Given the description of an element on the screen output the (x, y) to click on. 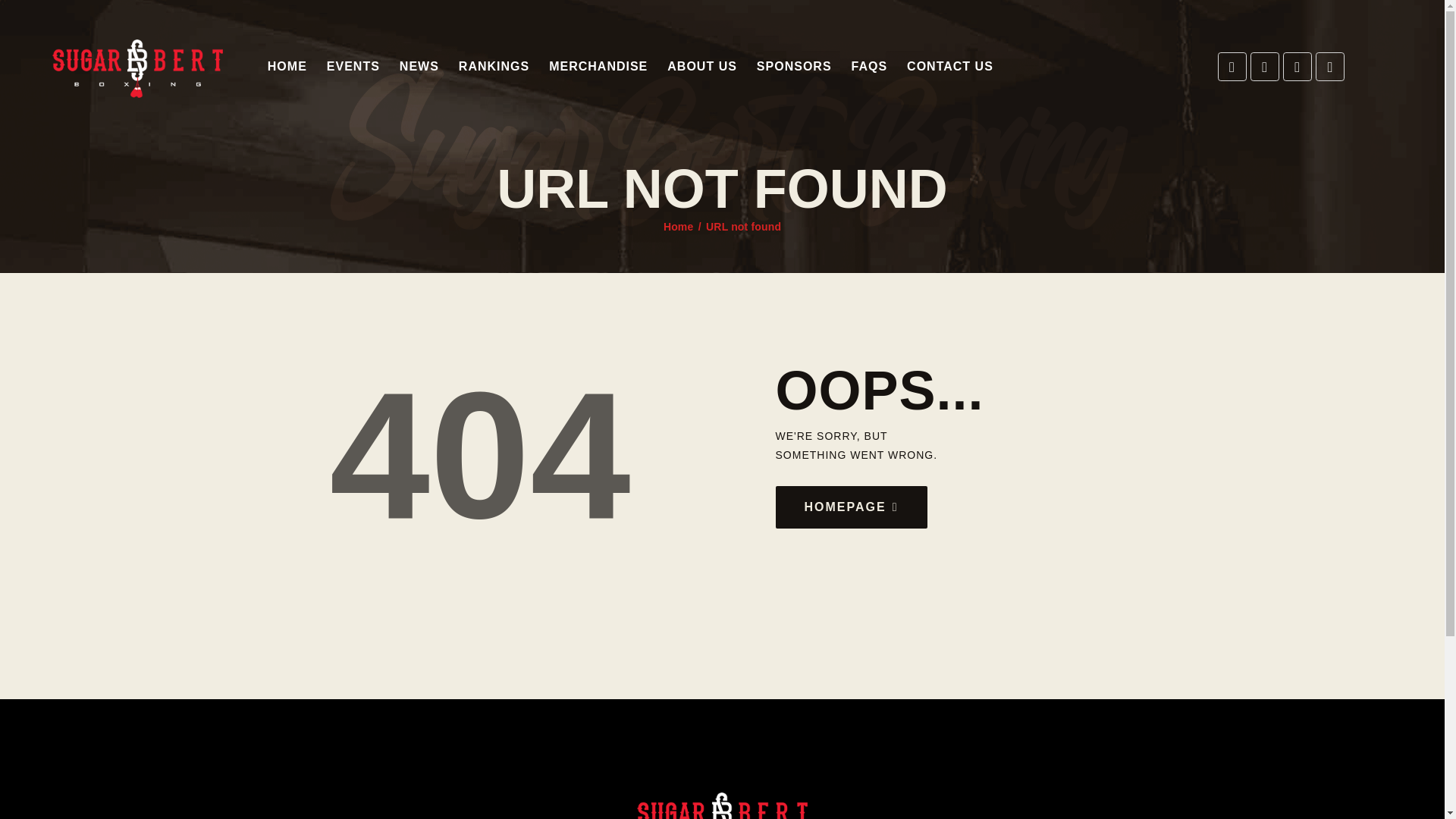
CONTACT US (949, 66)
HOME (287, 66)
SPONSORS (793, 66)
MERCHANDISE (598, 66)
EVENTS (353, 66)
RANKINGS (493, 66)
Home (678, 227)
NEWS (419, 66)
ABOUT US (702, 66)
FAQS (869, 66)
